Given the description of an element on the screen output the (x, y) to click on. 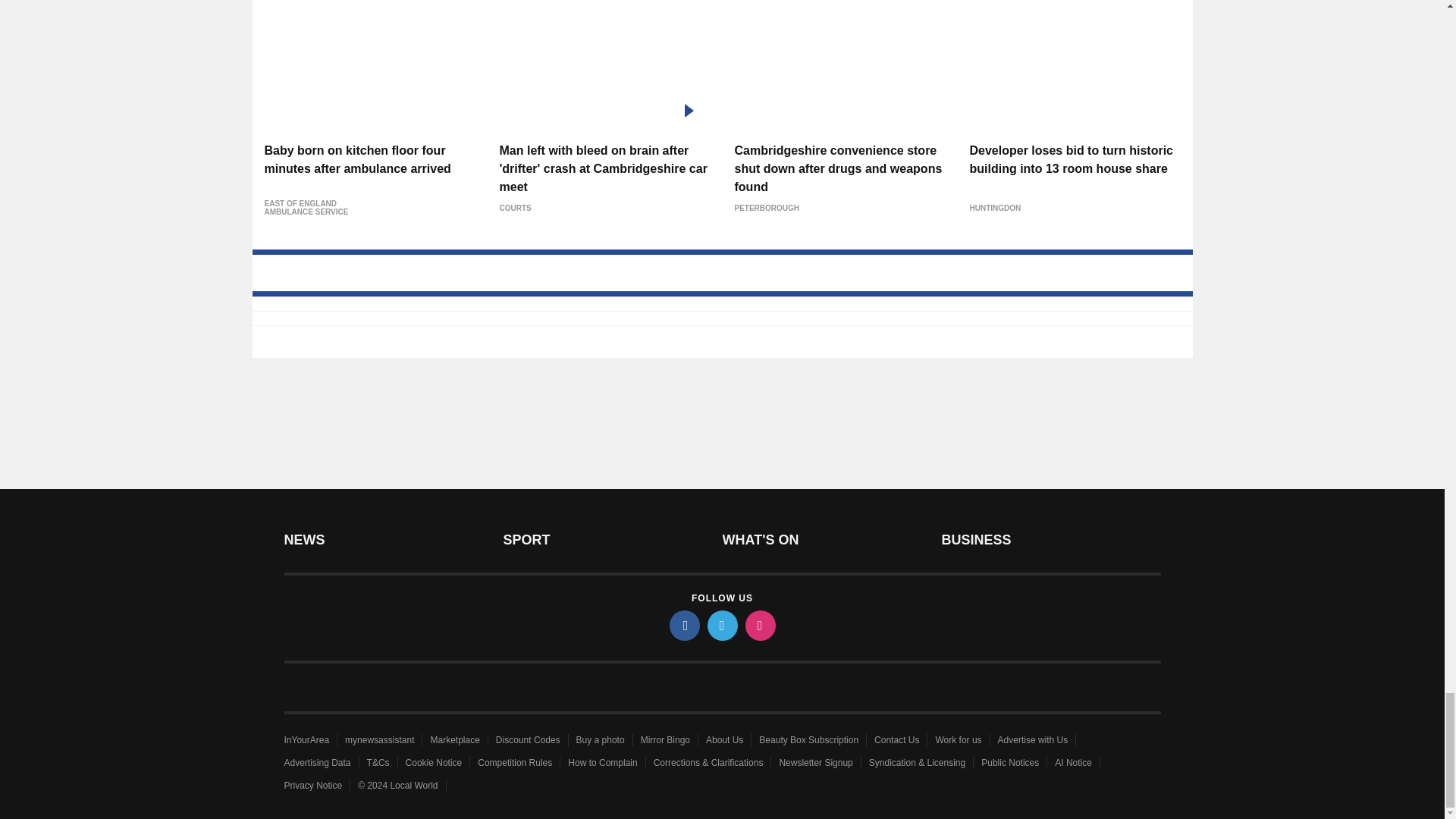
twitter (721, 625)
instagram (759, 625)
facebook (683, 625)
